Given the description of an element on the screen output the (x, y) to click on. 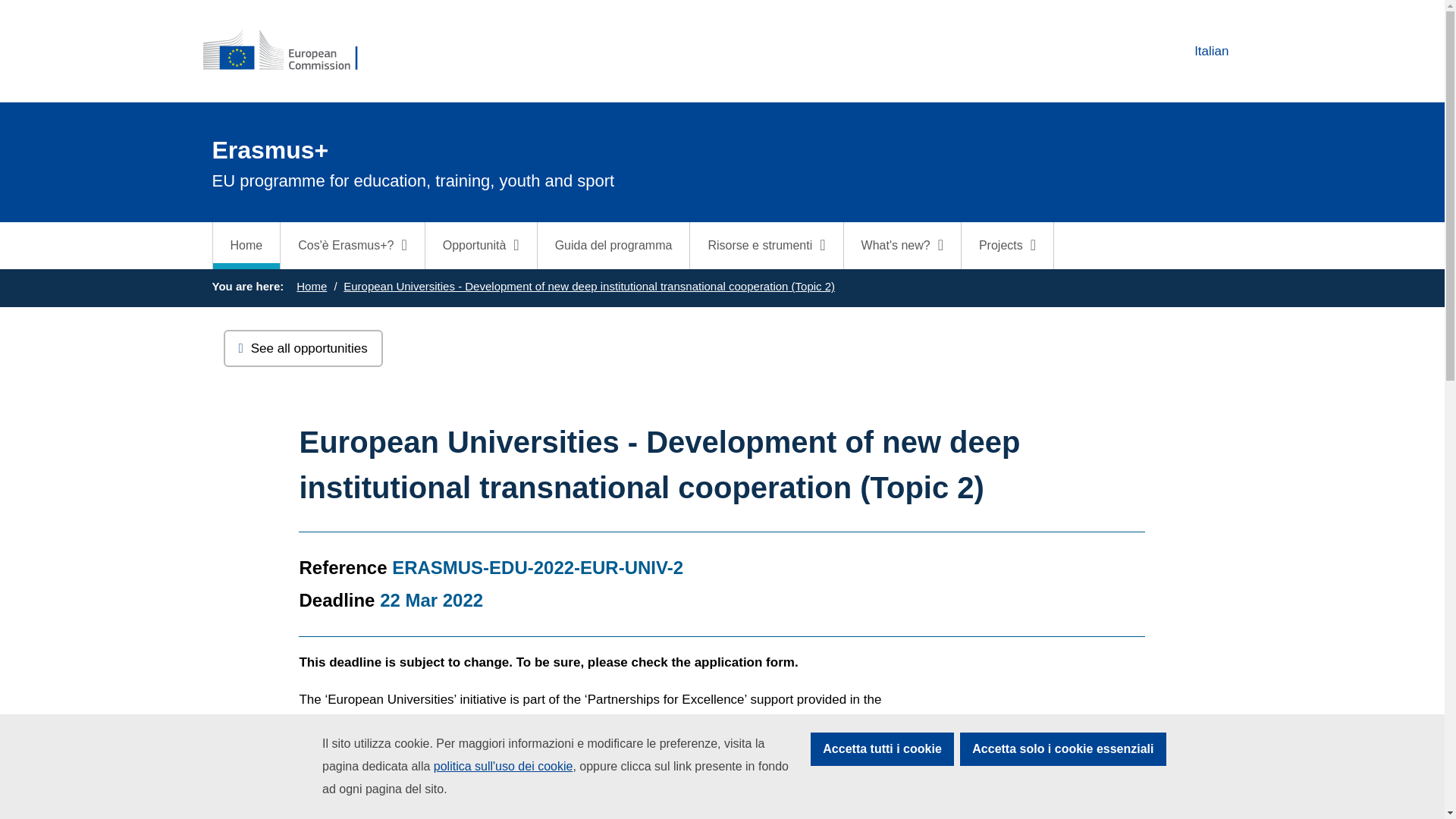
politica sull'uso dei cookie (503, 766)
Projects (1006, 245)
What's new? (902, 245)
Risorse e strumenti (766, 245)
Skip to main content (6, 6)
Home (311, 286)
Accetta tutti i cookie (881, 748)
See all opportunities (301, 348)
Home (245, 245)
Accetta solo i cookie essenziali (1062, 748)
Guida del programma (1198, 50)
